Given the description of an element on the screen output the (x, y) to click on. 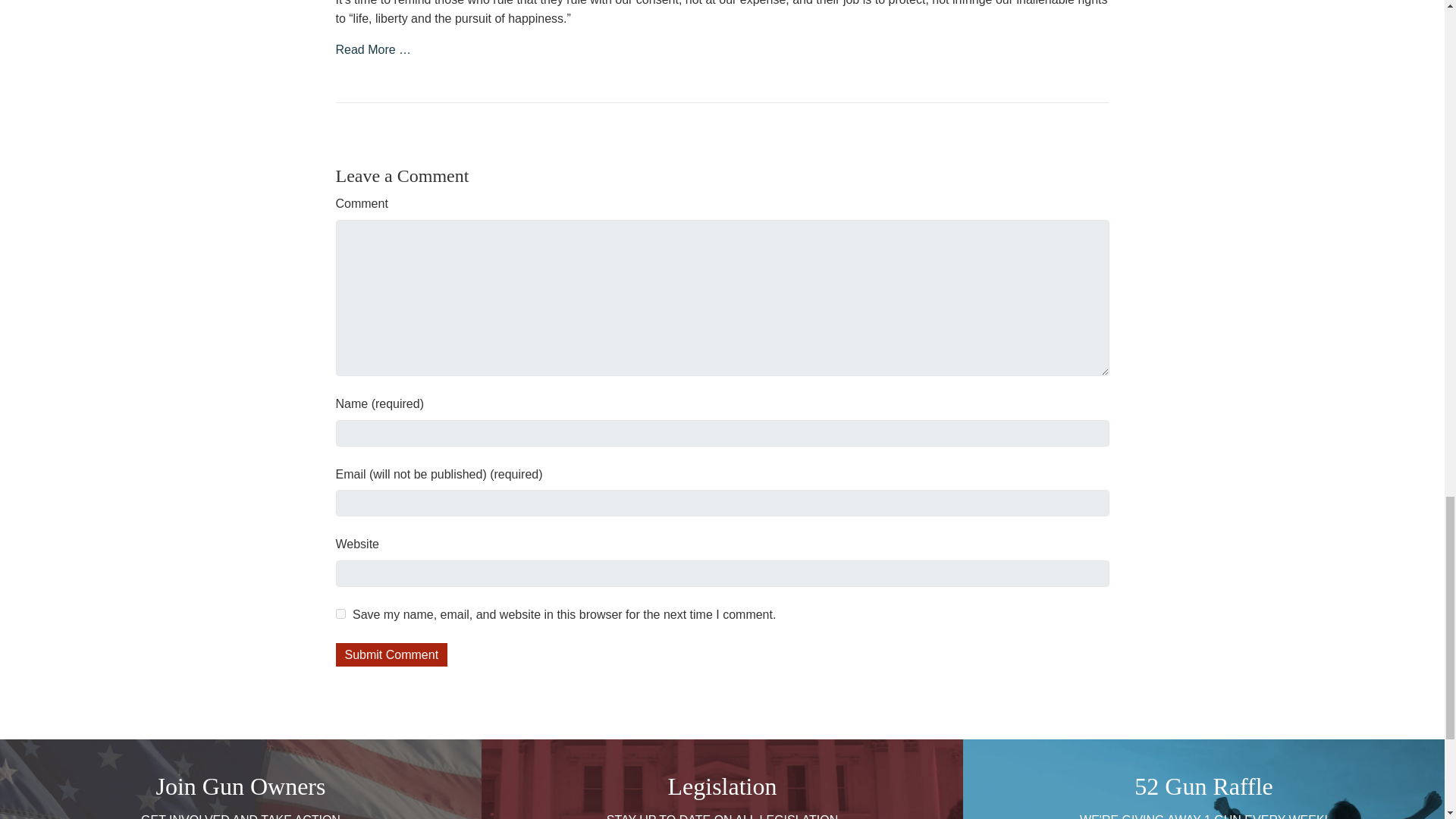
Submit Comment (390, 654)
yes (339, 614)
